Given the description of an element on the screen output the (x, y) to click on. 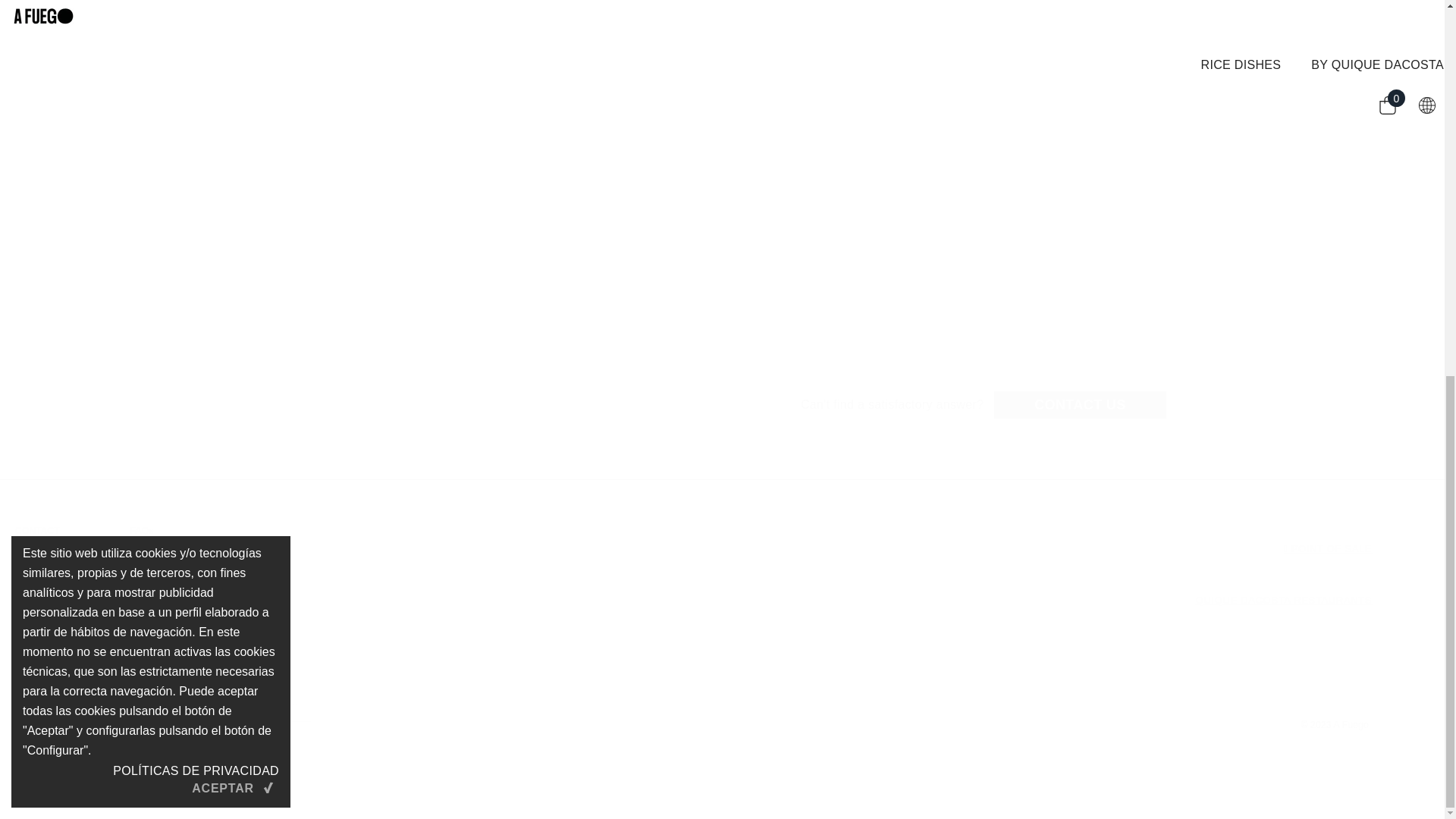
Do you ship abroad? (836, 219)
CONTACT (36, 530)
FAQs (142, 530)
Solicitar factura (836, 374)
CONTACT US (1080, 404)
Privacy Policy (722, 404)
TO SUBSCRIBE (171, 749)
QUIQUE DACOSTA RESTAURANTS (261, 702)
